Given the description of an element on the screen output the (x, y) to click on. 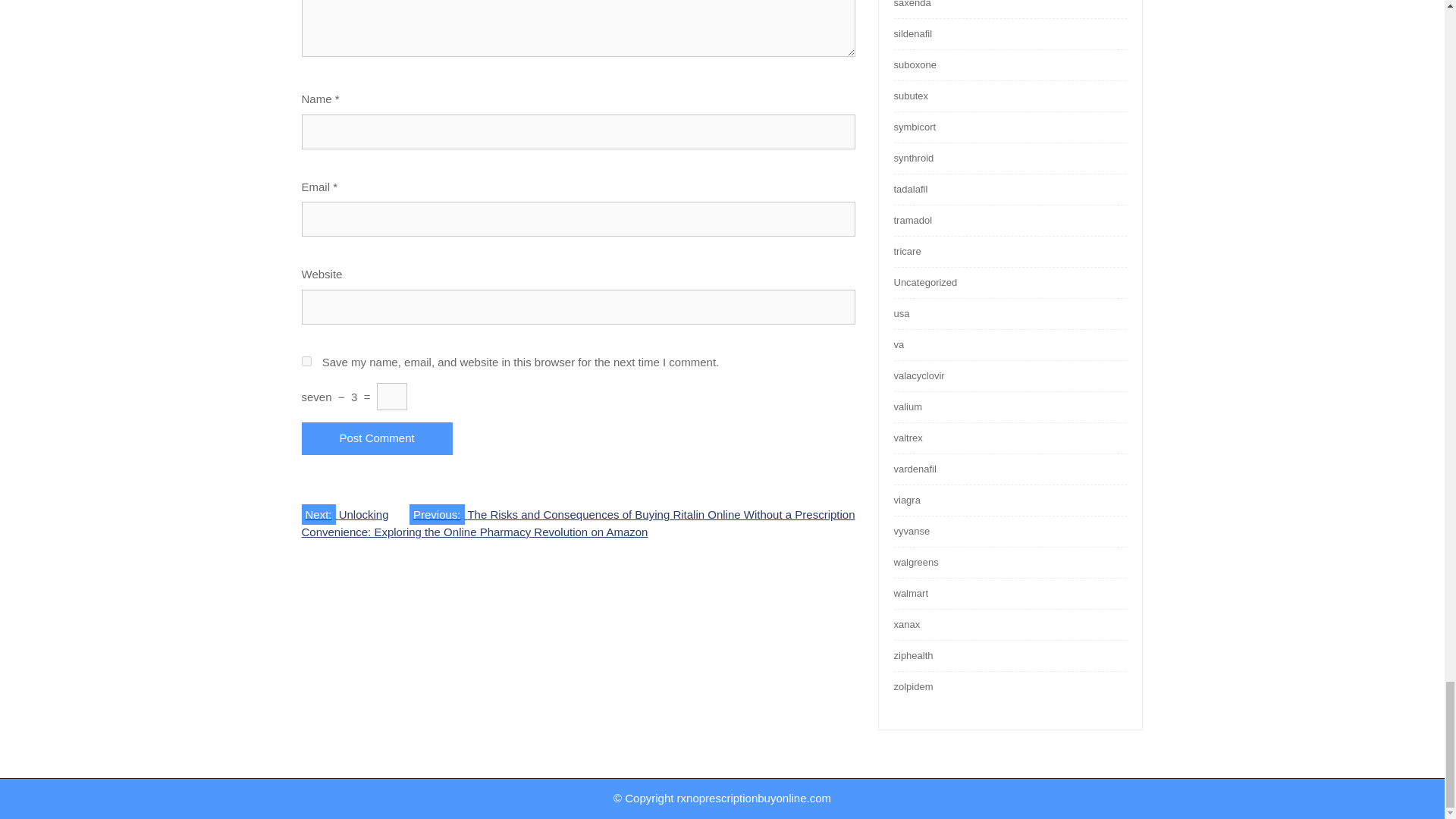
yes (306, 361)
Post Comment (376, 438)
Post Comment (376, 438)
